Given the description of an element on the screen output the (x, y) to click on. 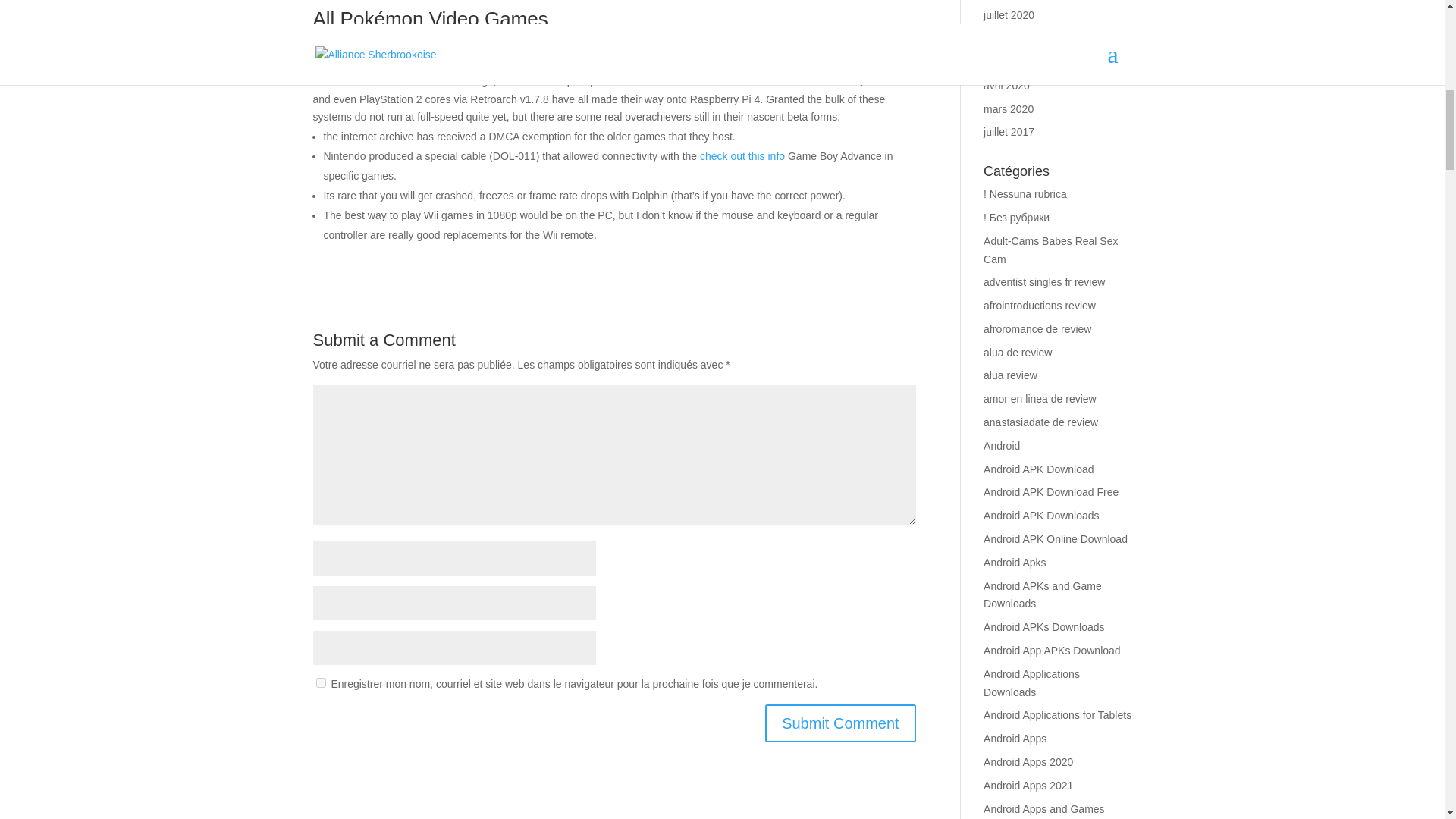
afroromance de review (1037, 328)
check out this info (742, 155)
mars 2020 (1008, 109)
Submit Comment (840, 723)
! Nessuna rubrica (1025, 193)
afrointroductions review (1040, 305)
juillet 2020 (1008, 15)
juillet 2017 (1008, 132)
adventist singles fr review (1044, 282)
Adult-Cams Babes Real Sex Cam (1051, 250)
